Given the description of an element on the screen output the (x, y) to click on. 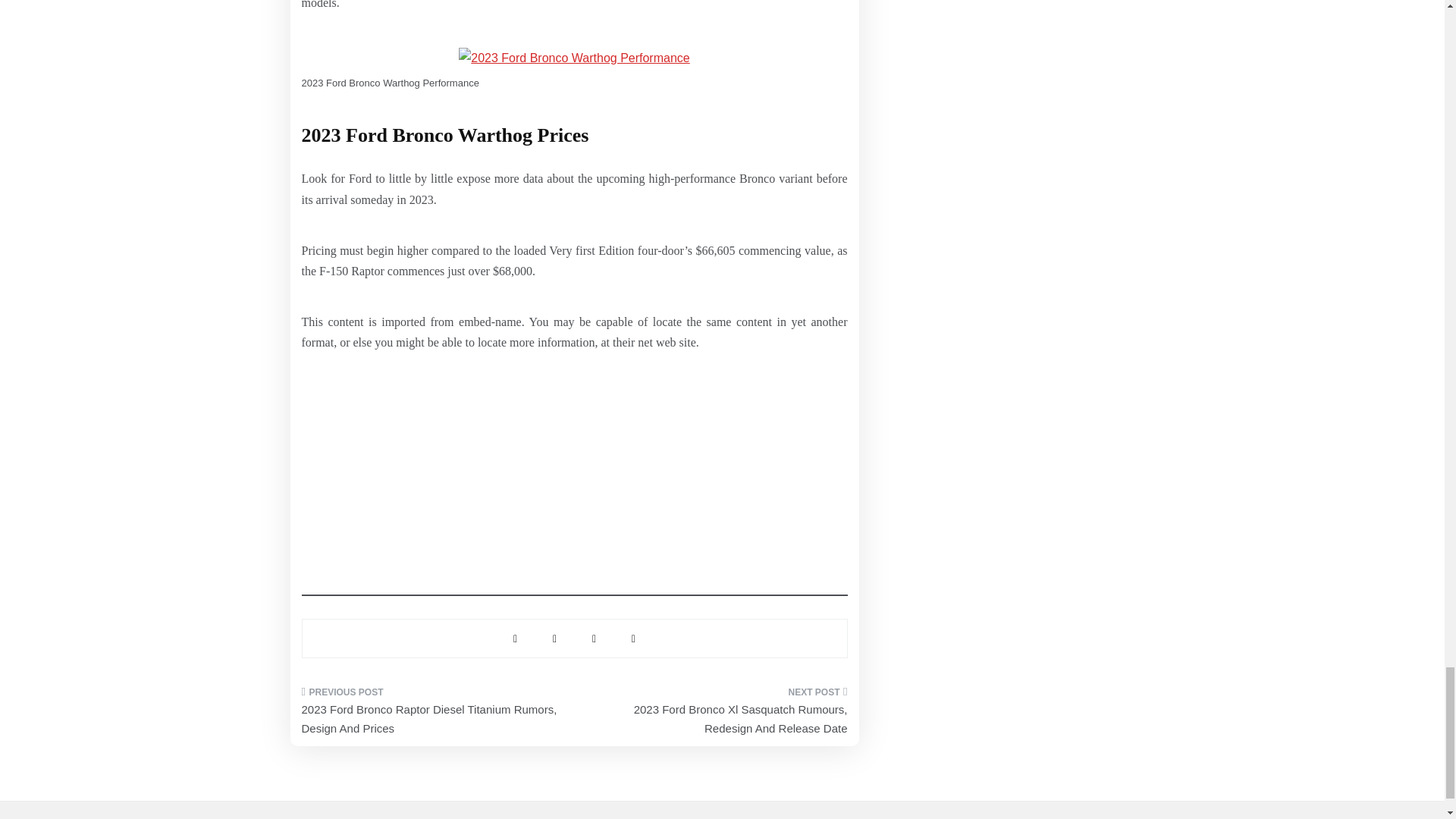
2023 Ford Bronco Warthog Performance (573, 57)
